Given the description of an element on the screen output the (x, y) to click on. 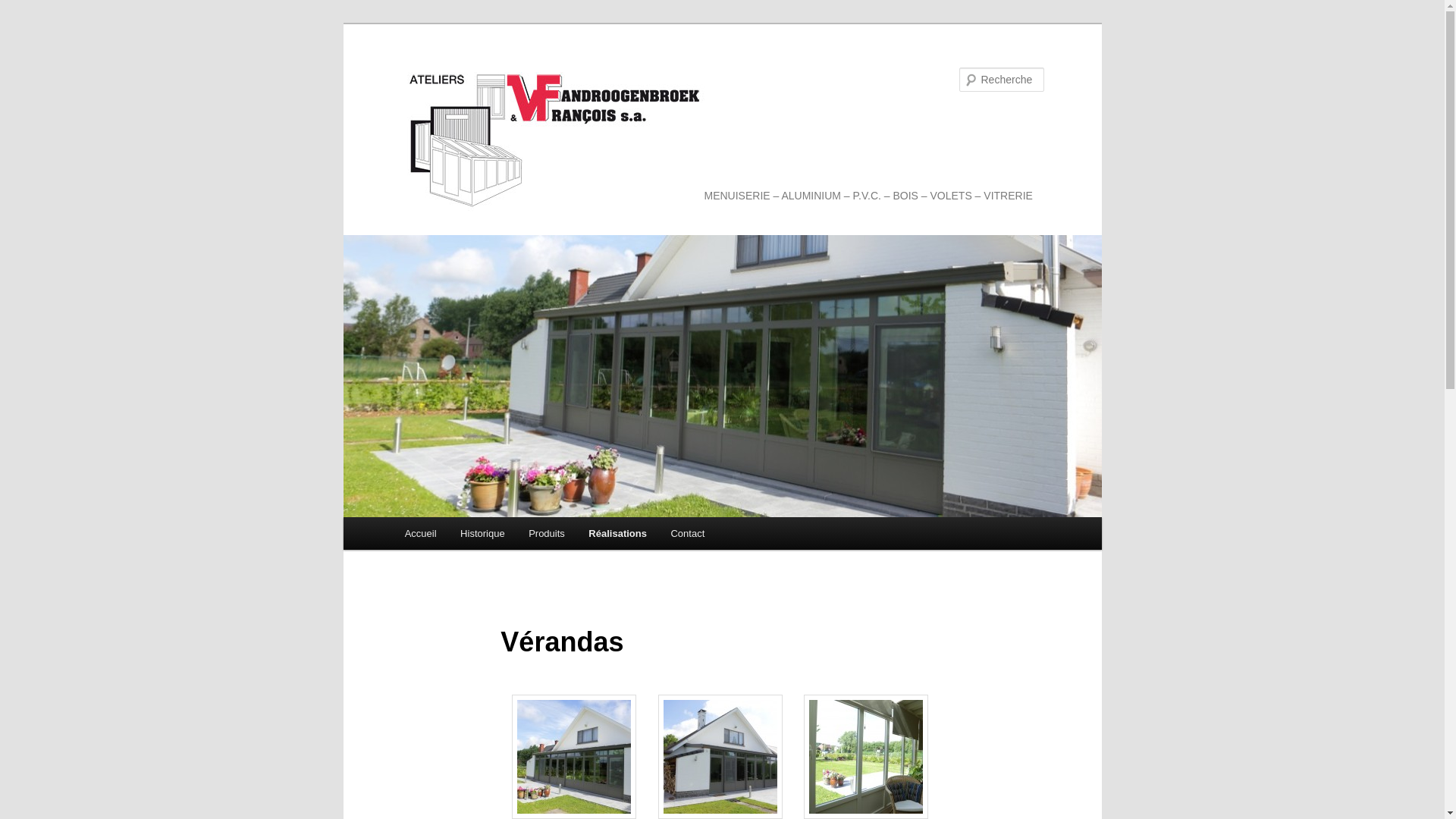
Accueil Element type: text (420, 533)
Historique Element type: text (482, 533)
Contact Element type: text (687, 533)
Recherche Element type: text (33, 8)
Aller au contenu principal Element type: text (414, 517)
Produits Element type: text (546, 533)
